Given the description of an element on the screen output the (x, y) to click on. 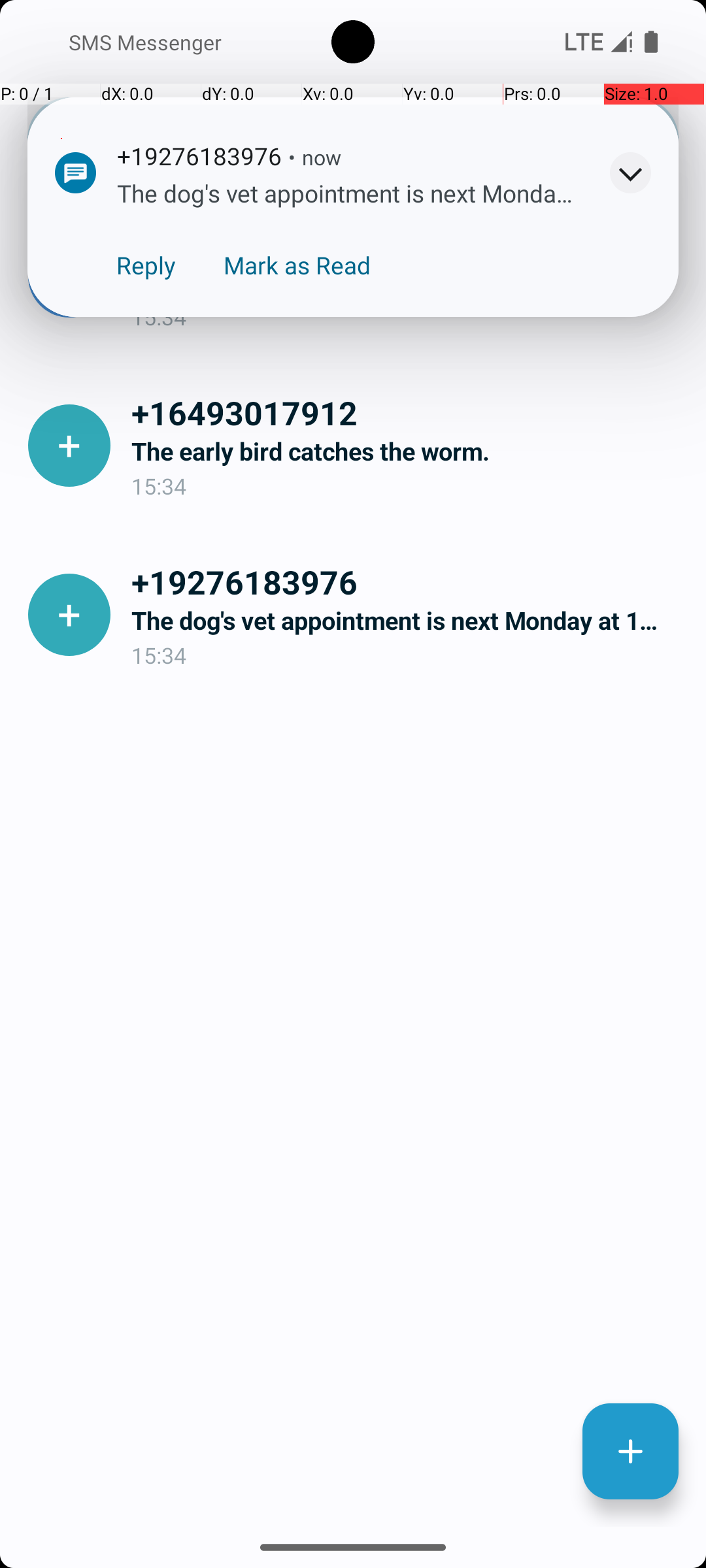
+10008228307 Element type: android.widget.TextView (408, 242)
Yoga class every Tuesday and Thursday at 6 PM. Element type: android.widget.TextView (408, 281)
+16493017912 Element type: android.widget.TextView (408, 412)
The early bird catches the worm. Element type: android.widget.TextView (408, 450)
+19276183976 Element type: android.widget.TextView (408, 581)
The dog's vet appointment is next Monday at 11 AM. Element type: android.widget.TextView (408, 620)
SMS Messenger Element type: android.widget.TextView (139, 42)
